Given the description of an element on the screen output the (x, y) to click on. 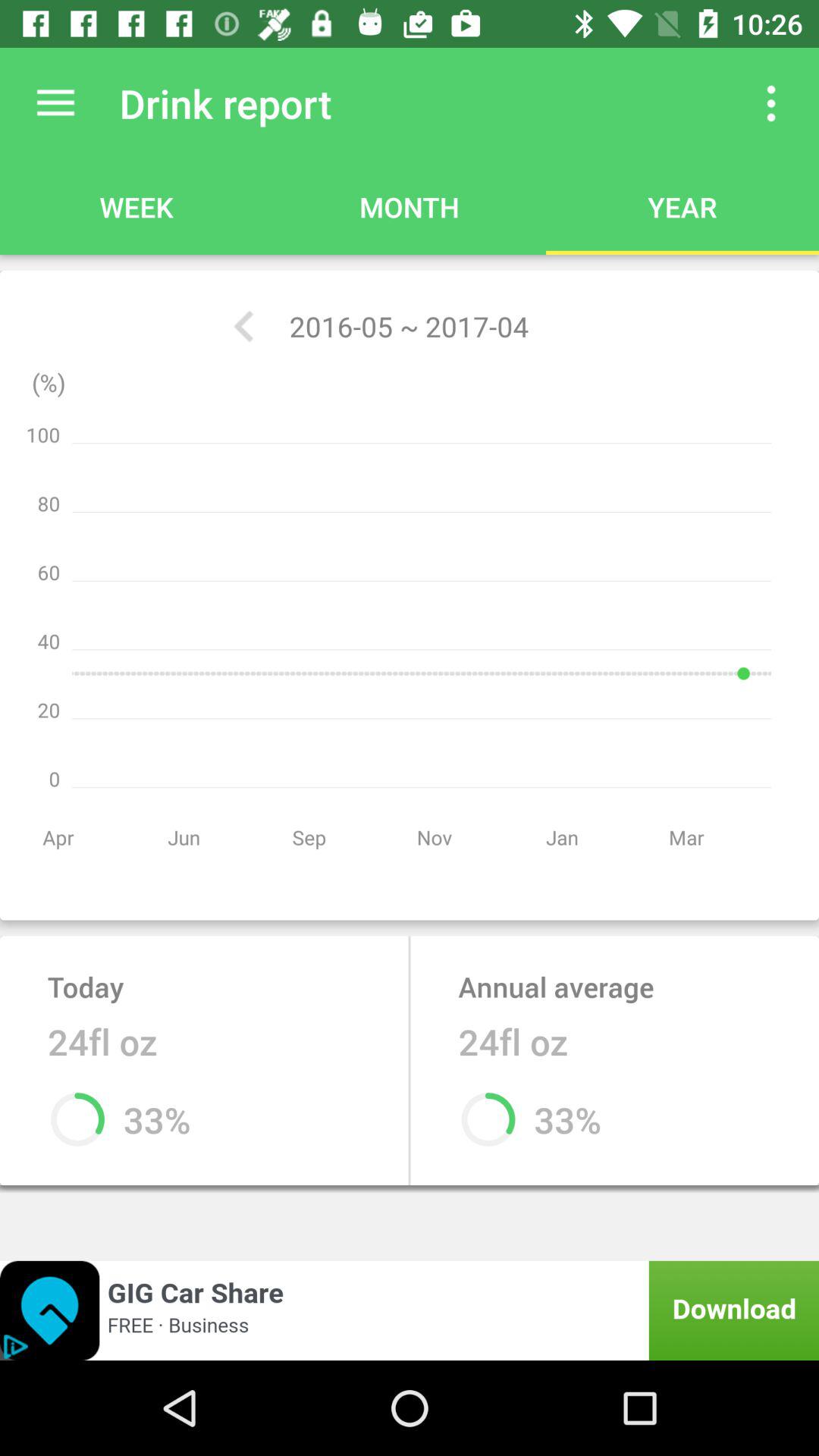
open menu (55, 103)
